Given the description of an element on the screen output the (x, y) to click on. 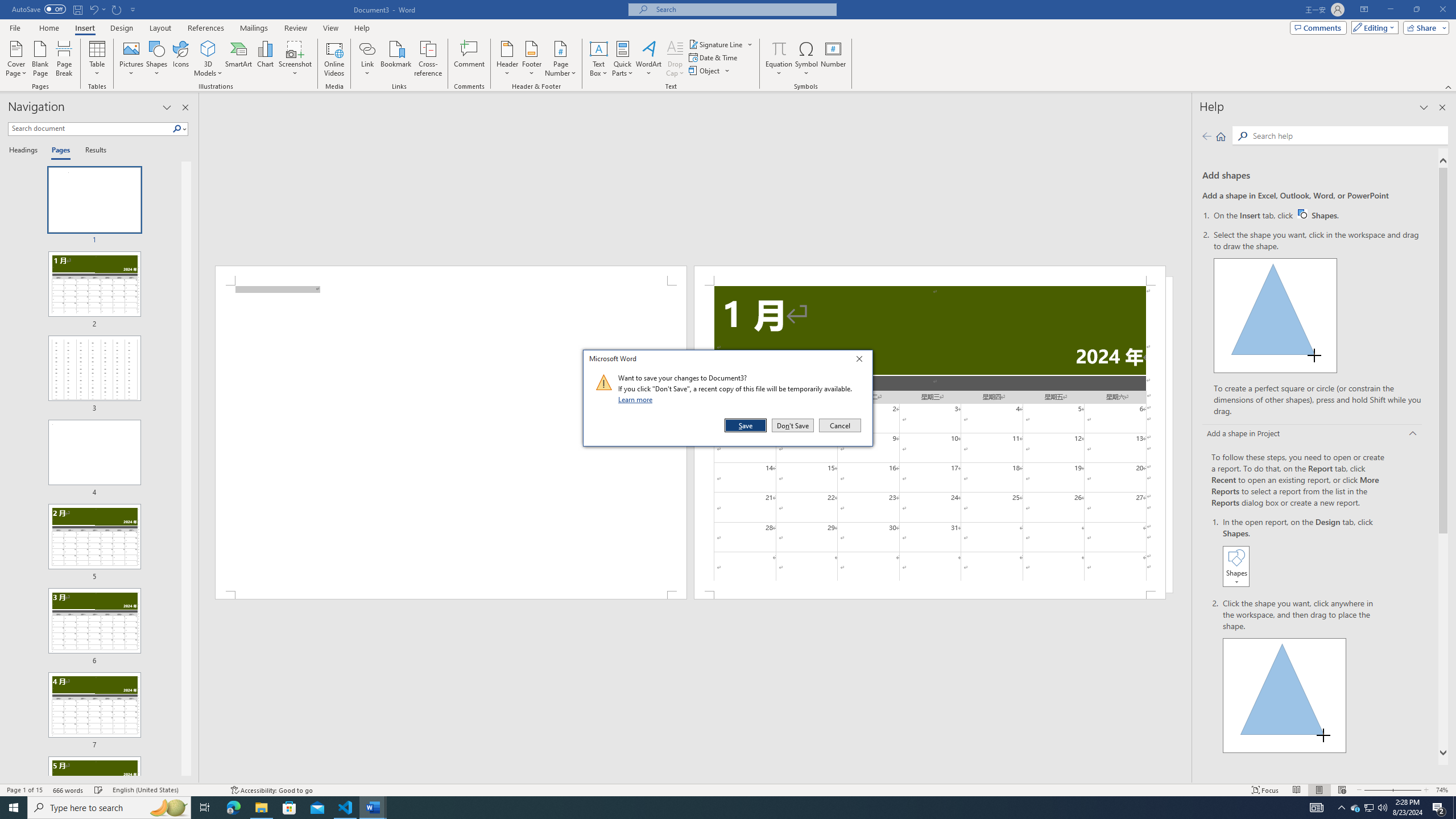
Object... (709, 69)
Number... (833, 58)
Cross-reference... (428, 58)
WordArt (648, 58)
Online Videos... (333, 58)
